Given the description of an element on the screen output the (x, y) to click on. 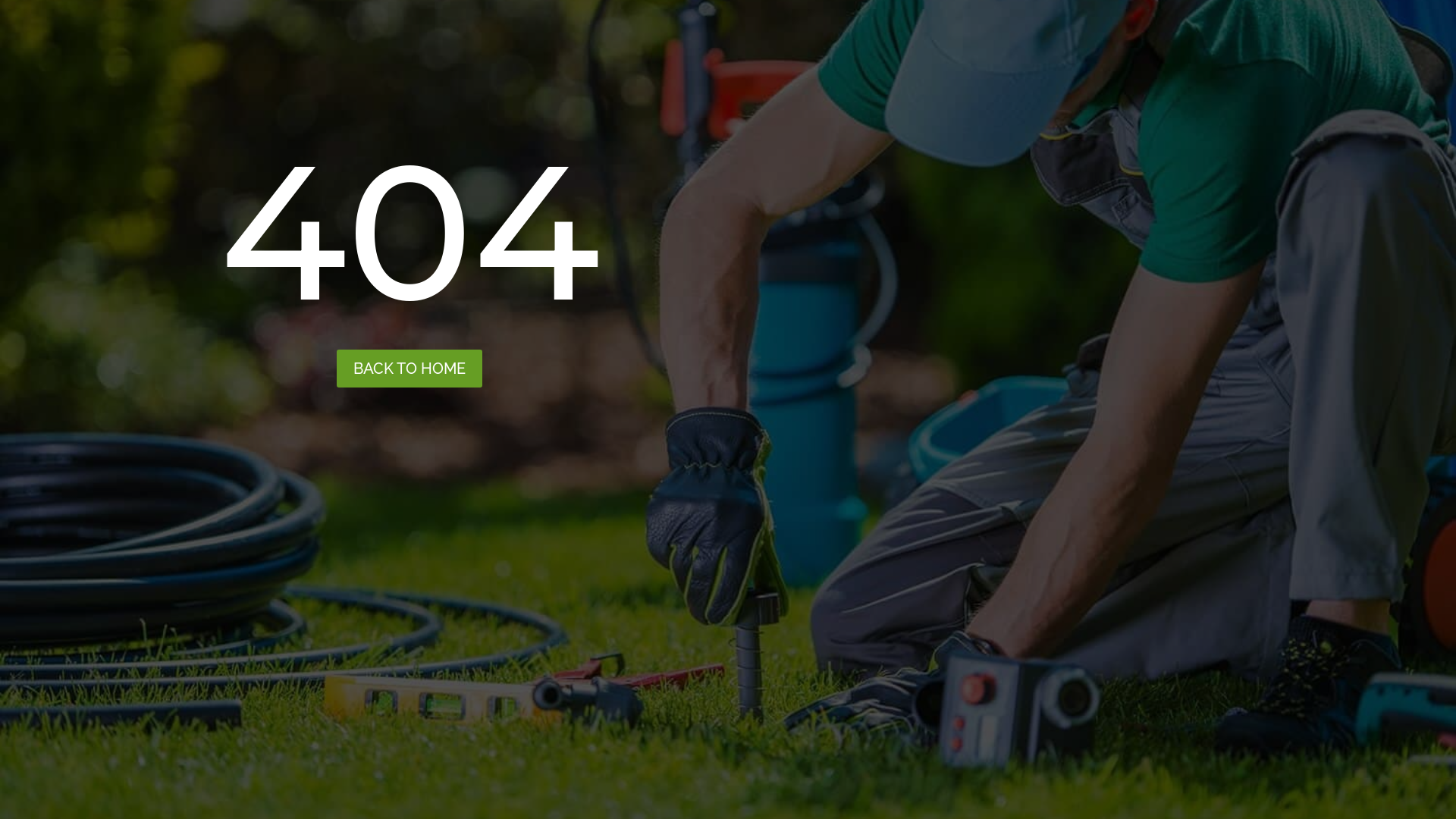
BACK TO HOME Element type: text (409, 368)
